Given the description of an element on the screen output the (x, y) to click on. 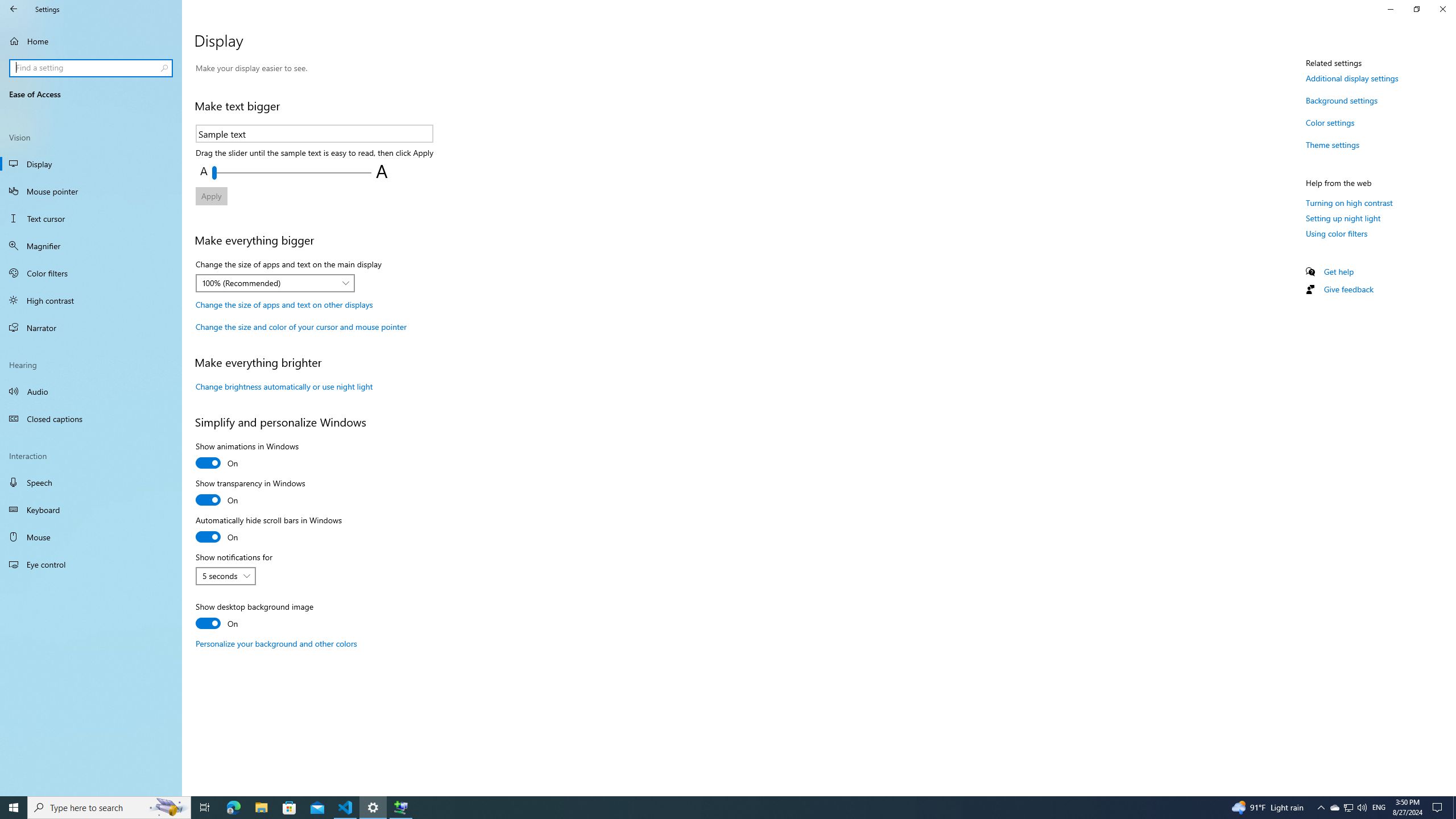
Eye control (91, 564)
Change brightness automatically or use night light (283, 385)
